Given the description of an element on the screen output the (x, y) to click on. 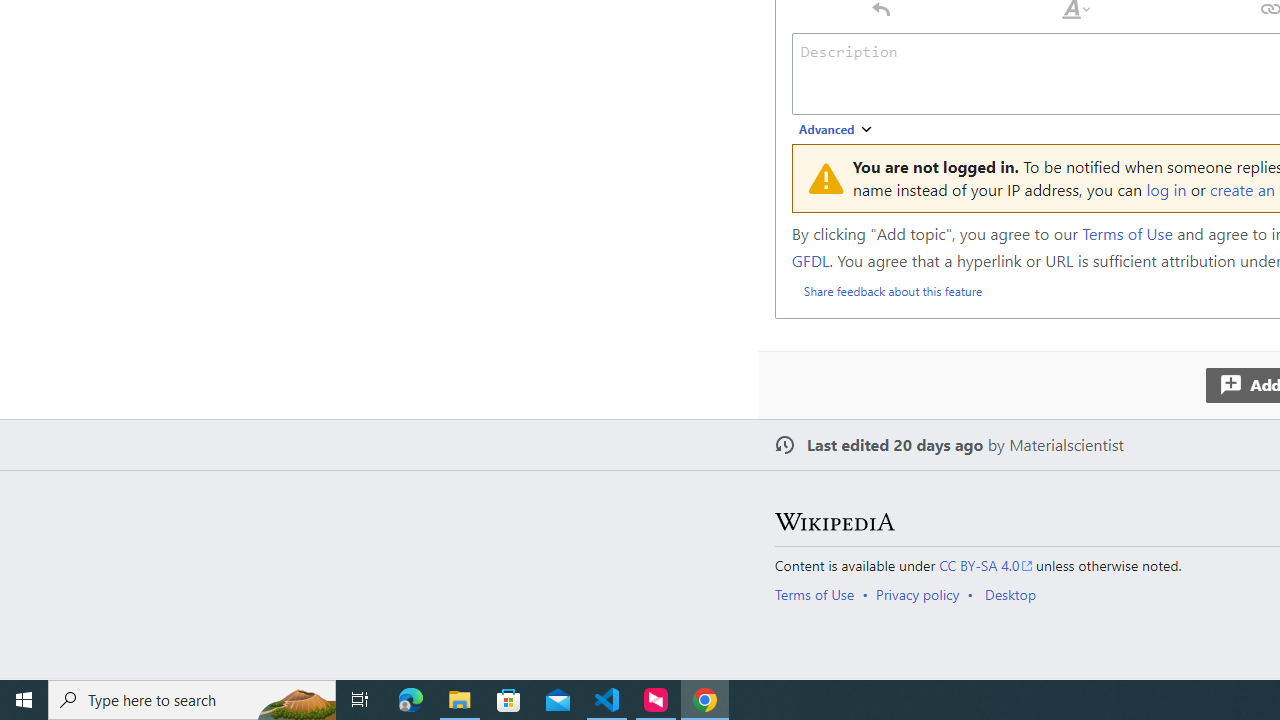
Wikipedia (834, 522)
Share feedback about this feature (892, 290)
AutomationID: footer-places-desktop-toggle (1014, 594)
AutomationID: footer-places-privacy (923, 594)
Advanced (836, 129)
log in (1165, 188)
Privacy policy (917, 594)
AutomationID: footer-places-terms-use (820, 594)
Terms of Use (814, 594)
Desktop (1010, 594)
CC BY-SA 4.0 (985, 565)
GFDL (810, 259)
